Given the description of an element on the screen output the (x, y) to click on. 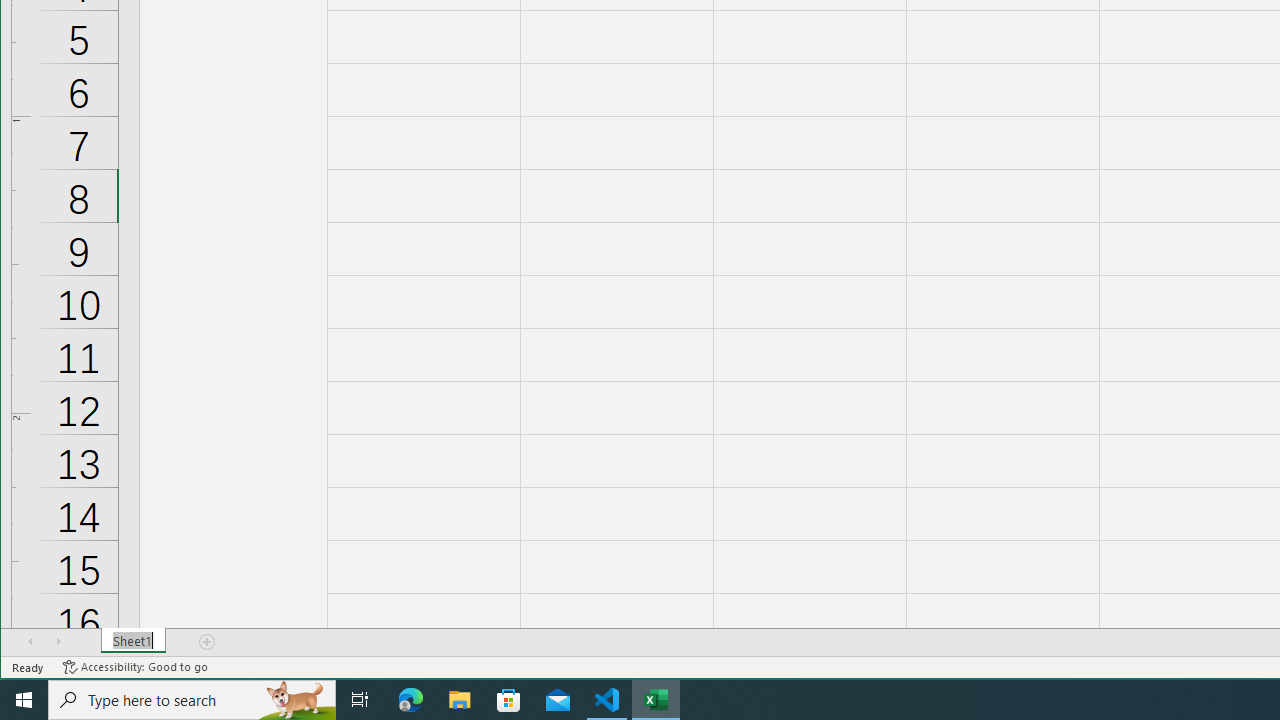
Excel - 1 running window (656, 699)
Scroll Right (58, 641)
Visual Studio Code - 1 running window (607, 699)
Microsoft Edge (411, 699)
Sheet Tab (133, 641)
Microsoft Store (509, 699)
Task View (359, 699)
File Explorer (460, 699)
Search highlights icon opens search home window (295, 699)
Type here to search (191, 699)
Add Sheet (207, 641)
Scroll Left (30, 641)
Accessibility Checker Accessibility: Good to go (135, 667)
Start (24, 699)
